Given the description of an element on the screen output the (x, y) to click on. 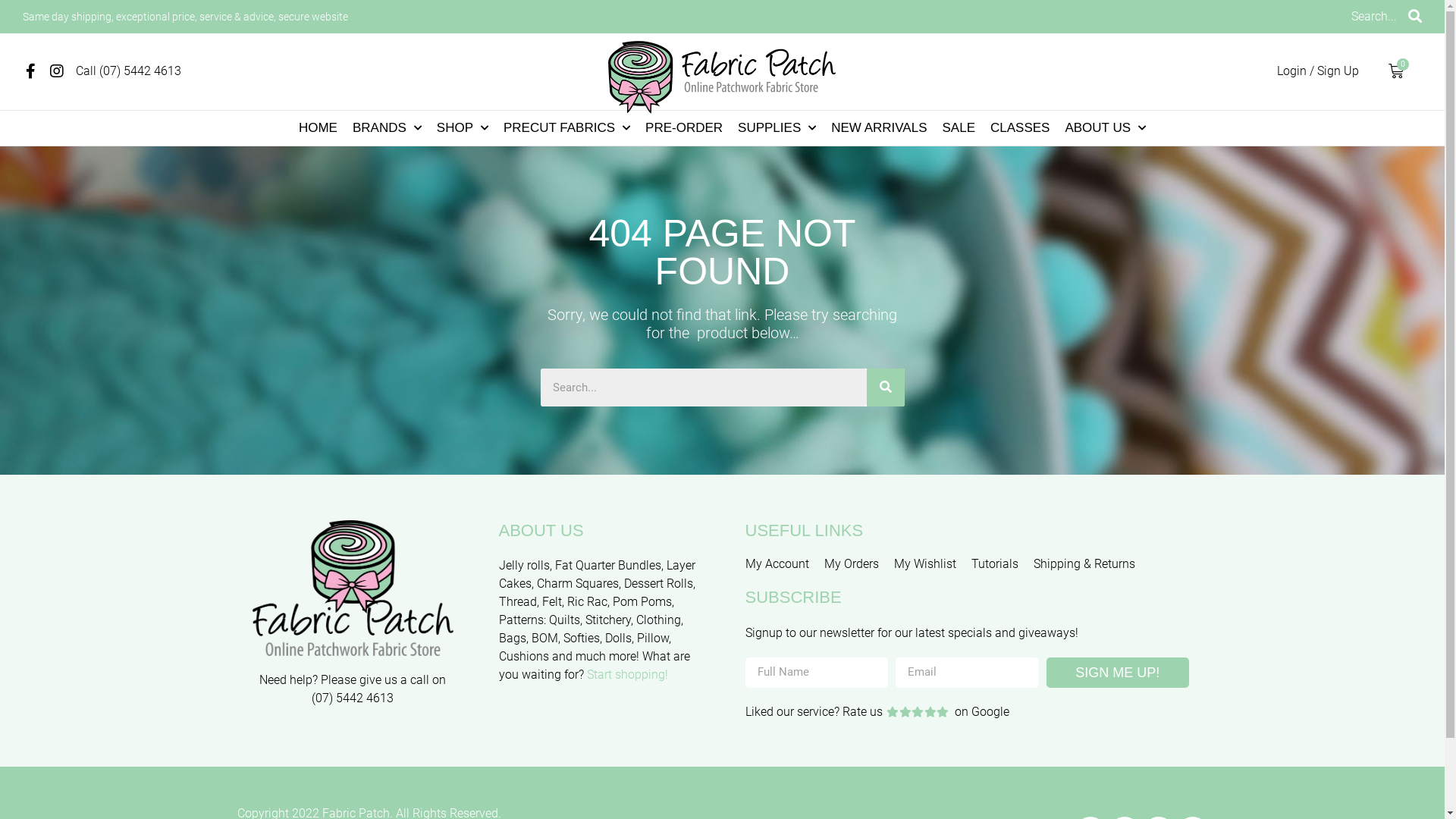
ABOUT US Element type: text (1104, 127)
SALE Element type: text (958, 127)
CLASSES Element type: text (1019, 127)
SIGN ME UP! Element type: text (1117, 672)
PRECUT FABRICS Element type: text (566, 127)
Need help? Please give us a call on (07) 5442 4613 Element type: text (352, 688)
NEW ARRIVALS Element type: text (878, 127)
PRE-ORDER Element type: text (683, 127)
Start shopping! Element type: text (627, 674)
SUPPLIES Element type: text (776, 127)
Tutorials Element type: text (993, 563)
Login / Sign Up Element type: text (1317, 70)
My Orders Element type: text (850, 563)
Search... Element type: text (1373, 16)
Liked our service? Rate us Element type: text (812, 711)
My Account Element type: text (776, 563)
My Wishlist Element type: text (924, 563)
HOME Element type: text (317, 127)
Shipping & Returns Element type: text (1083, 563)
BRANDS Element type: text (386, 127)
SHOP Element type: text (462, 127)
on Google Element type: text (981, 711)
Call (07) 5442 4613 Element type: text (128, 70)
0 Element type: text (1395, 70)
